Given the description of an element on the screen output the (x, y) to click on. 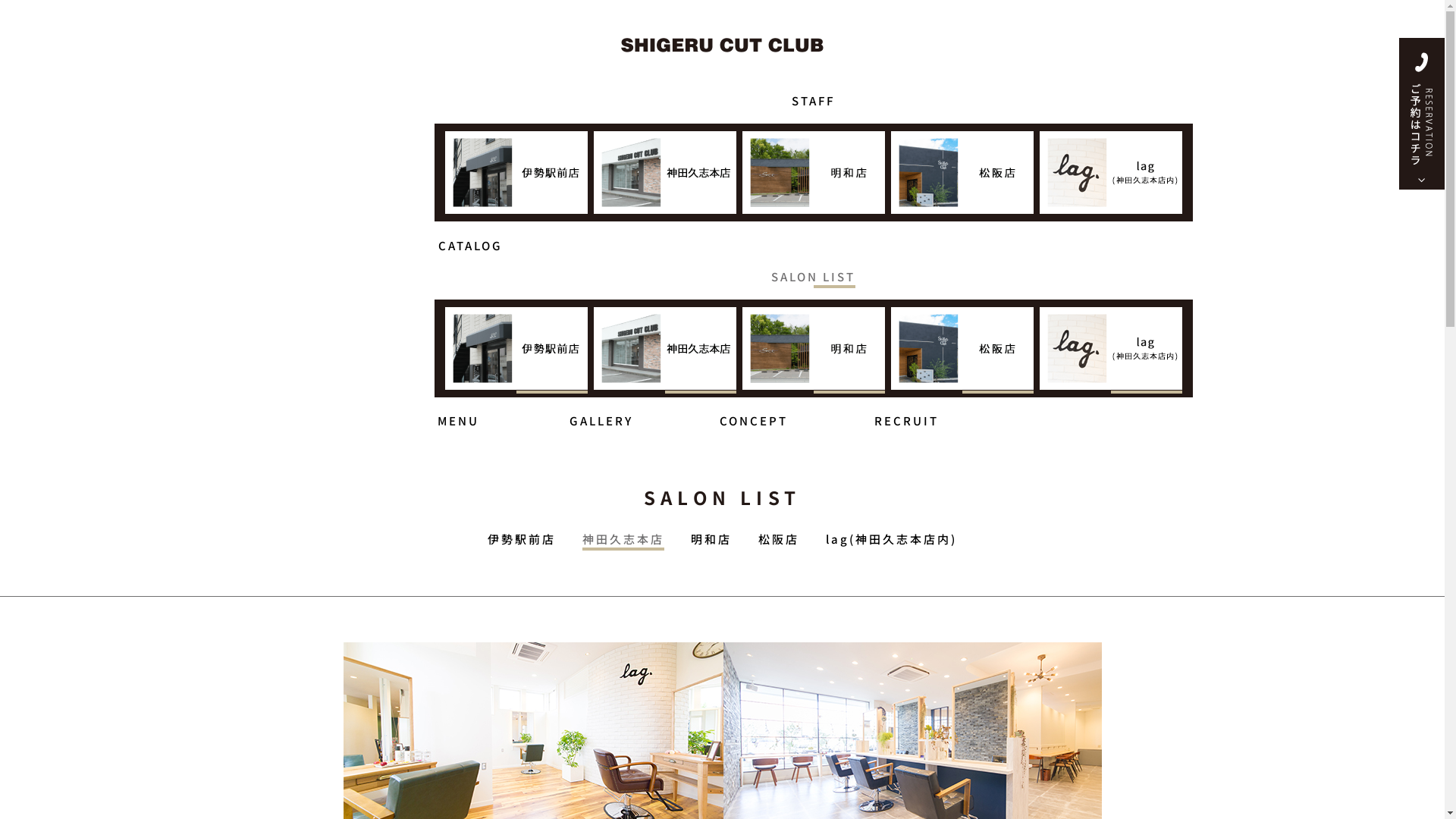
RECRUIT Element type: text (906, 415)
MENU Element type: text (457, 415)
CONCEPT Element type: text (753, 415)
GALLERY Element type: text (601, 415)
STAFF Element type: text (812, 94)
SALON LIST Element type: text (812, 270)
CATALOG Element type: text (469, 239)
